Given the description of an element on the screen output the (x, y) to click on. 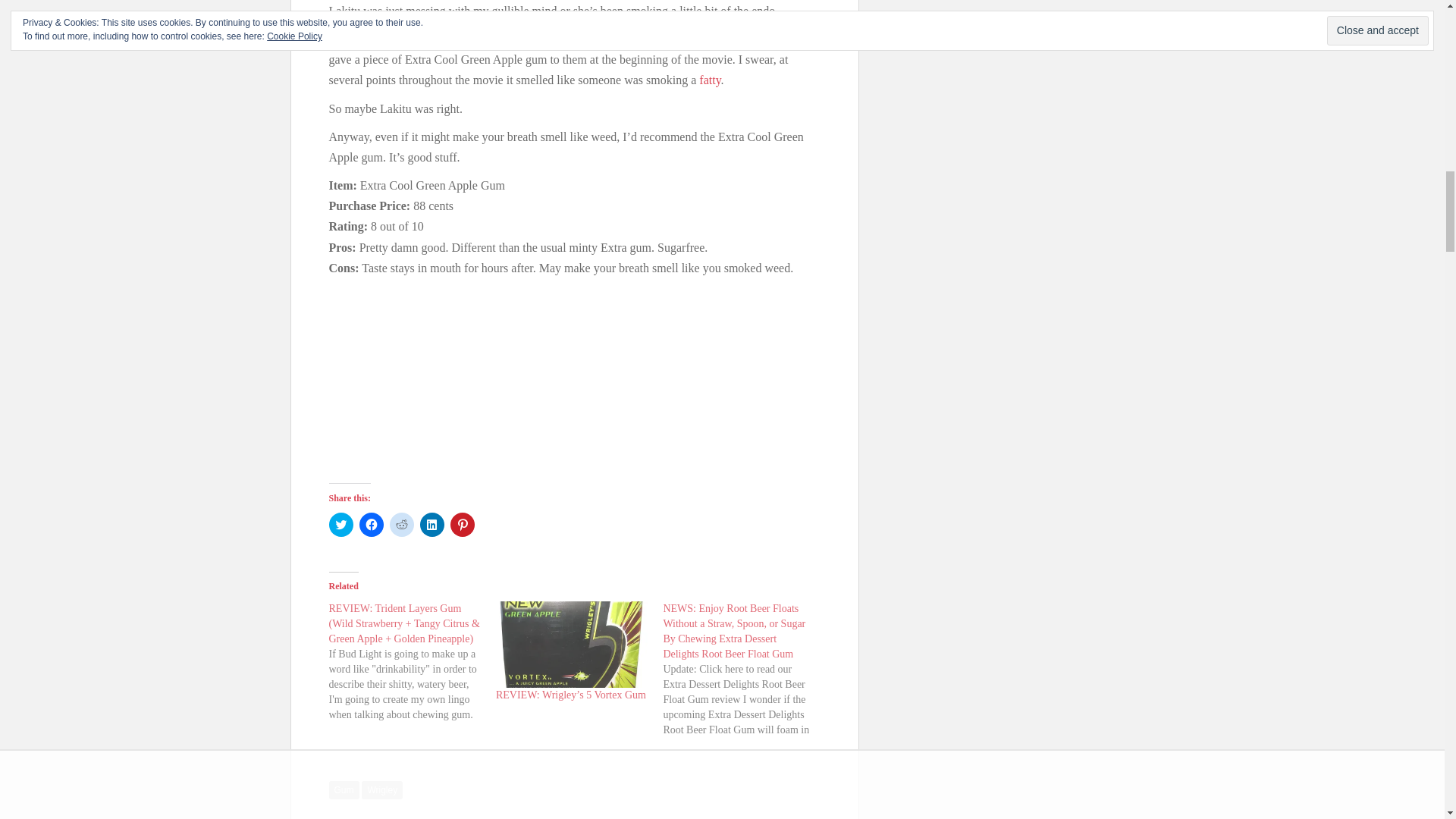
fatty (709, 79)
Click to share on Facebook (371, 524)
Wrigley (382, 790)
Click to share on Pinterest (461, 524)
Click to share on Twitter (341, 524)
Click to share on Reddit (401, 524)
Click to share on LinkedIn (432, 524)
